Given the description of an element on the screen output the (x, y) to click on. 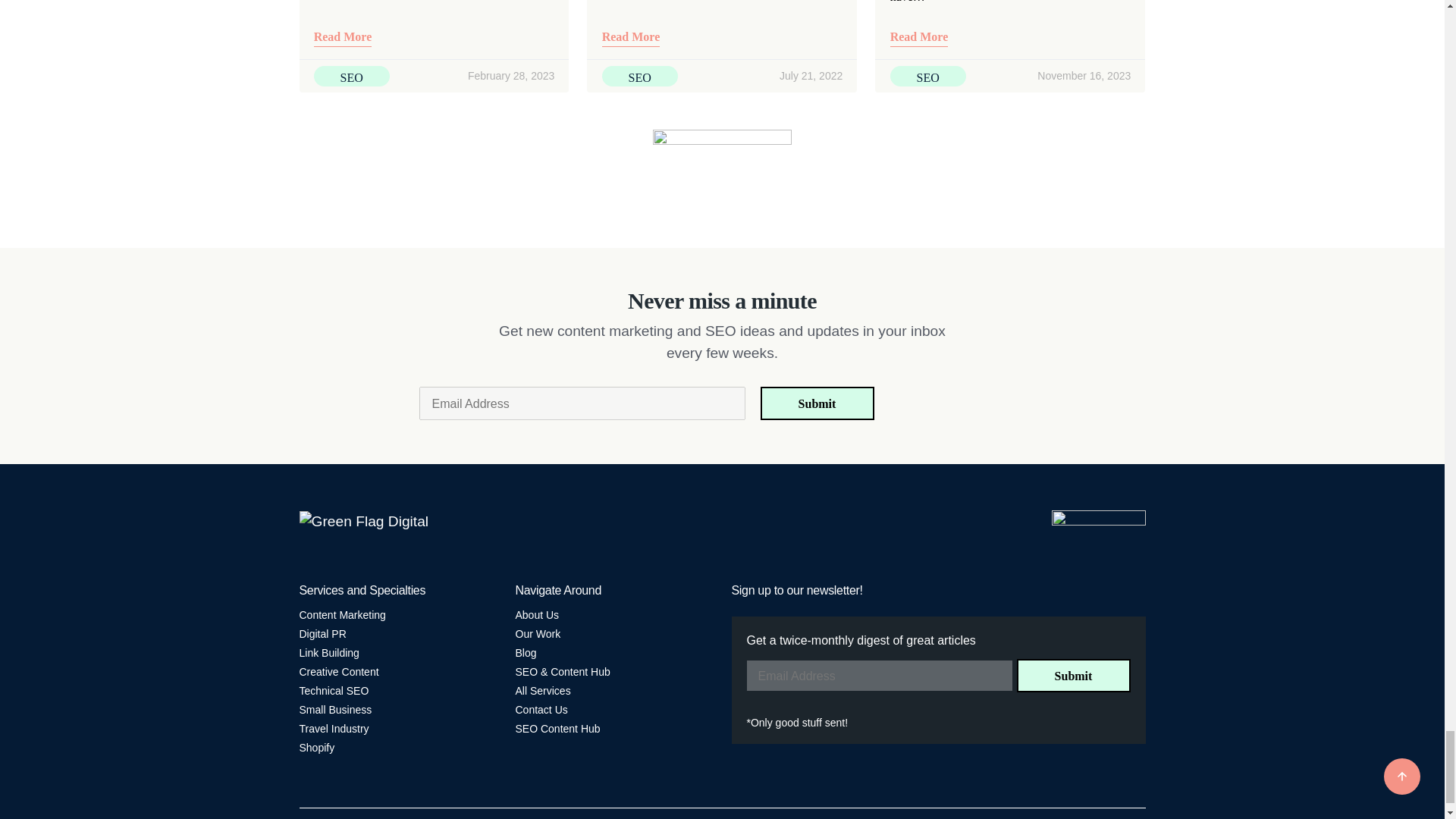
Read More (631, 37)
SEO (352, 76)
Submit (1072, 675)
Read More (343, 37)
Submit (816, 403)
